Given the description of an element on the screen output the (x, y) to click on. 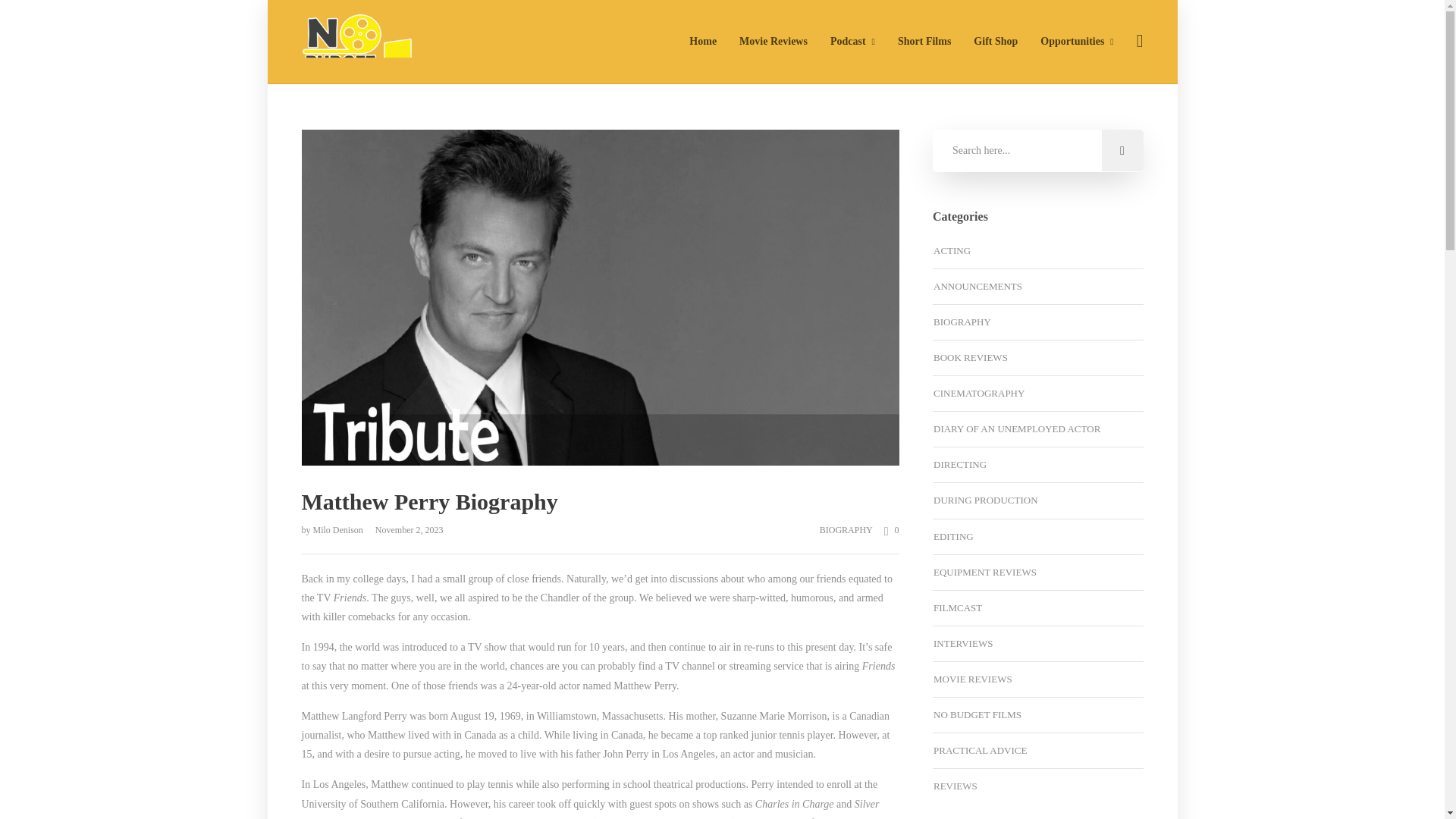
0 (885, 529)
BIOGRAPHY (845, 529)
November 2, 2023 (404, 529)
Milo Denison (339, 529)
Matthew Perry Biography (600, 496)
Movie Reviews (773, 41)
Search text (1037, 150)
Opportunities (1077, 41)
